Given the description of an element on the screen output the (x, y) to click on. 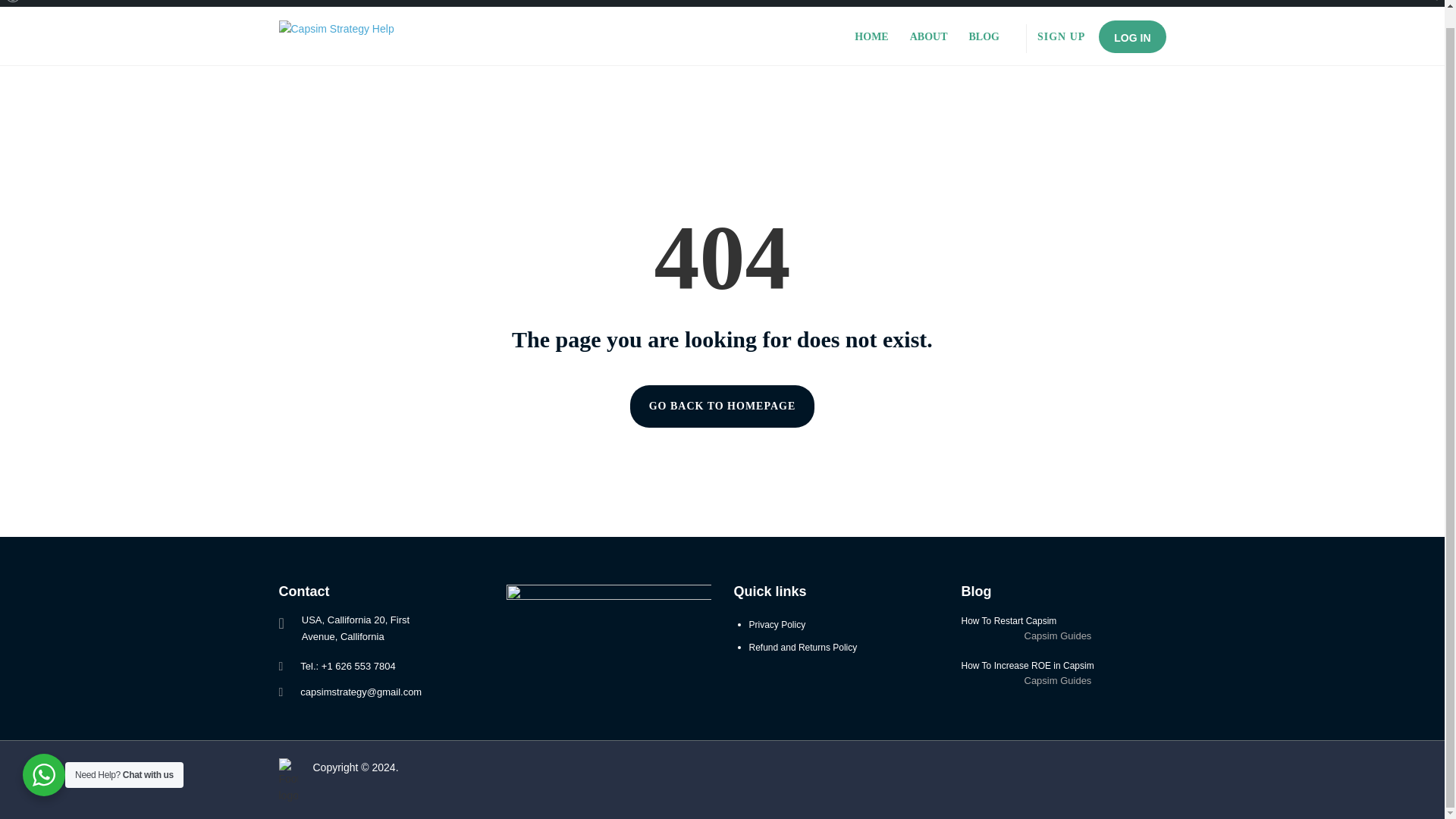
Search (16, 4)
Log In (45, 3)
SIGN UP (1060, 36)
Capsim Guides (1056, 680)
LOG IN (1132, 36)
How To Restart Capsim (1063, 621)
BLOG (983, 36)
Refund and Returns Policy (803, 647)
Need Help? Chat with us (44, 757)
ABOUT (928, 36)
Privacy Policy (777, 624)
How To Increase ROE in Capsim (1063, 665)
Capsim Guides (1056, 635)
GO BACK TO HOMEPAGE (722, 405)
HOME (871, 36)
